Given the description of an element on the screen output the (x, y) to click on. 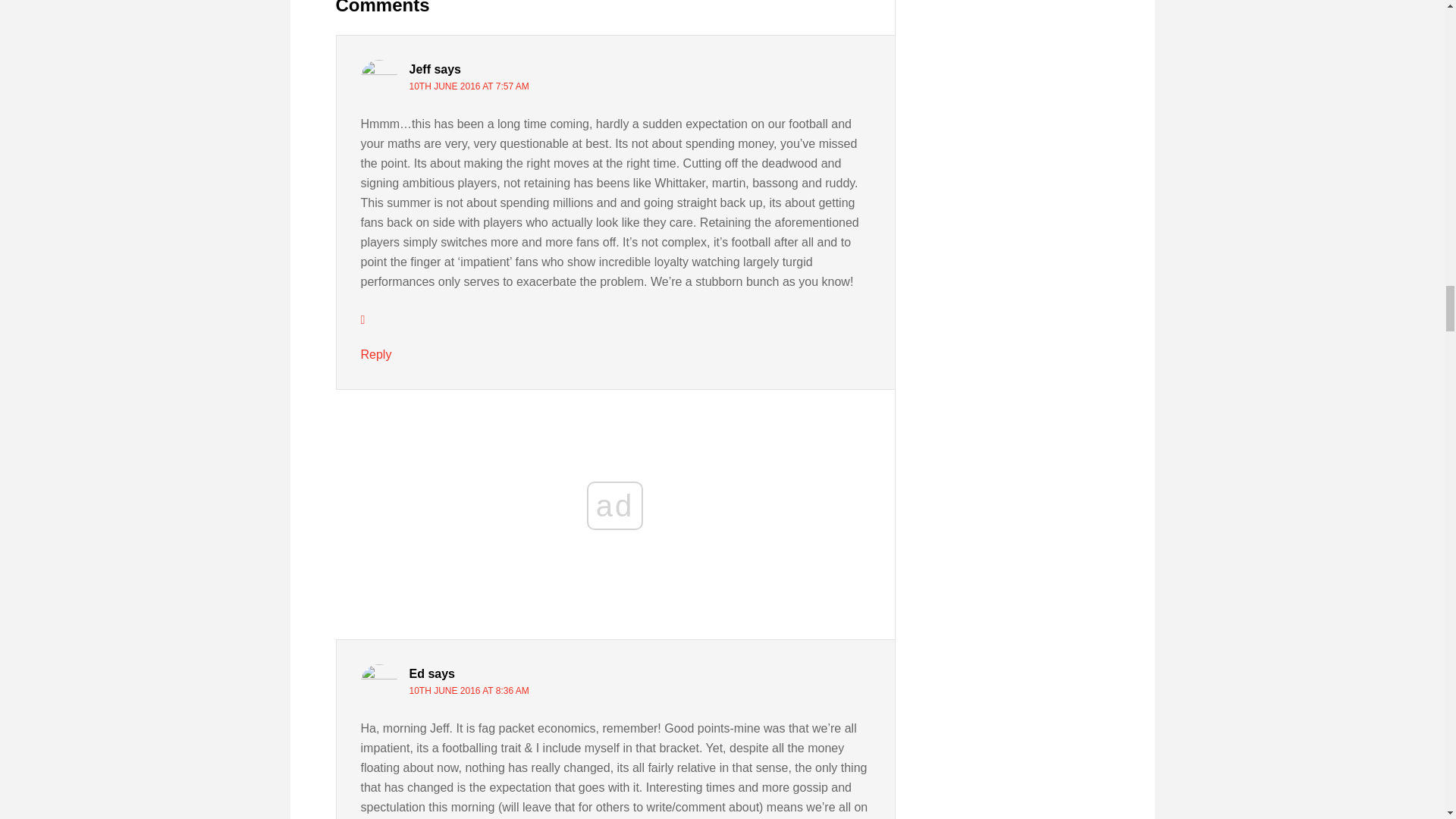
Reply (376, 354)
10TH JUNE 2016 AT 8:36 AM (469, 690)
10TH JUNE 2016 AT 7:57 AM (469, 86)
